Given the description of an element on the screen output the (x, y) to click on. 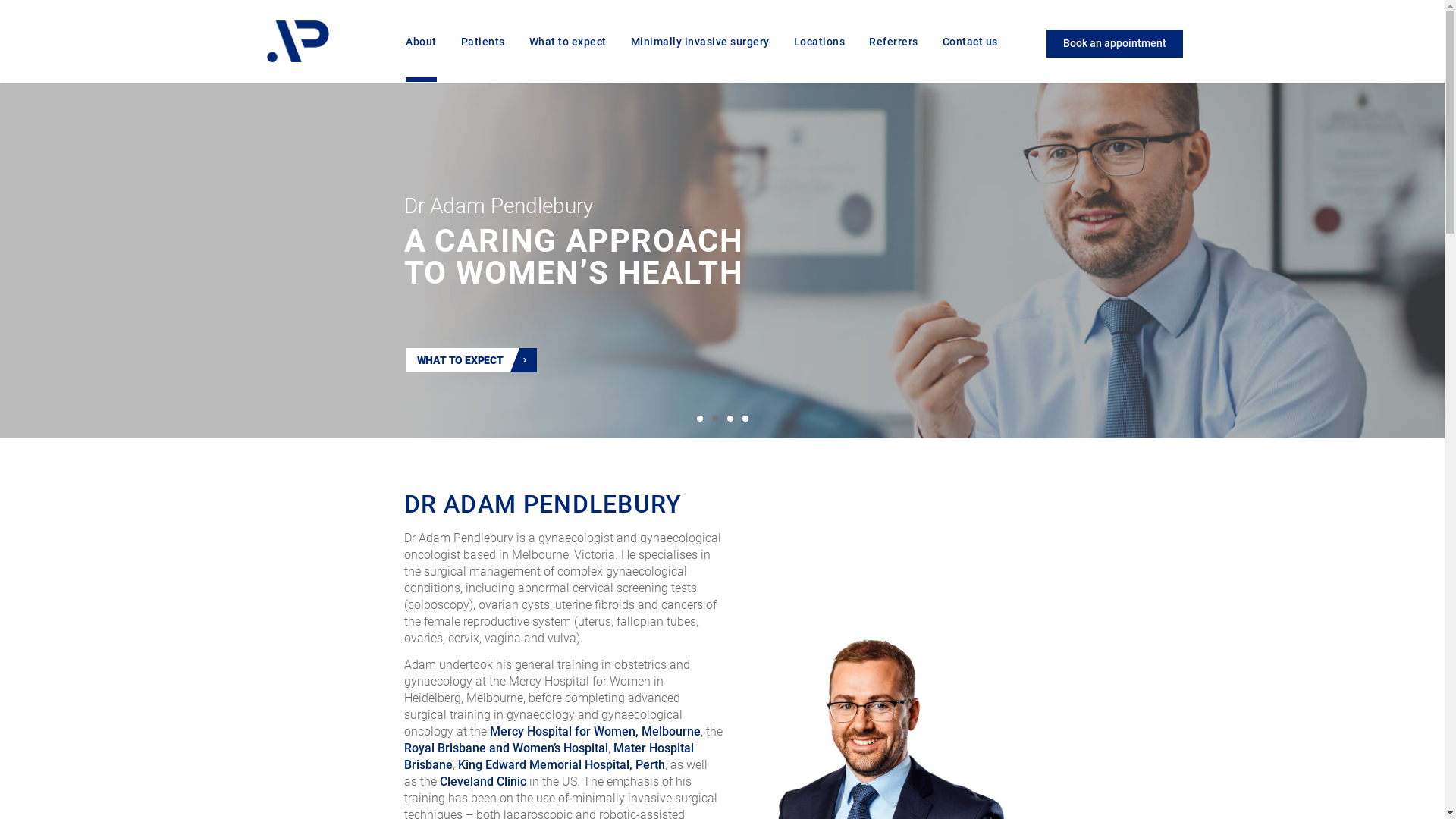
Locations Element type: text (819, 58)
Cleveland Clinic Element type: text (482, 781)
Contact us Element type: text (969, 58)
Minimally invasive surgery Element type: text (699, 58)
Mercy Hospital for Women, Melbourne Element type: text (594, 731)
WHAT TO EXPECT Element type: text (471, 360)
Patients Element type: text (483, 58)
Book an appointment Element type: text (1114, 43)
King Edward Memorial Hospital, Perth Element type: text (561, 764)
What to expect Element type: text (567, 58)
Mater Hospital Brisbane Element type: text (548, 755)
Referrers Element type: text (893, 58)
Dr Adam Pendlebury Element type: hover (297, 43)
About Element type: text (420, 58)
